Given the description of an element on the screen output the (x, y) to click on. 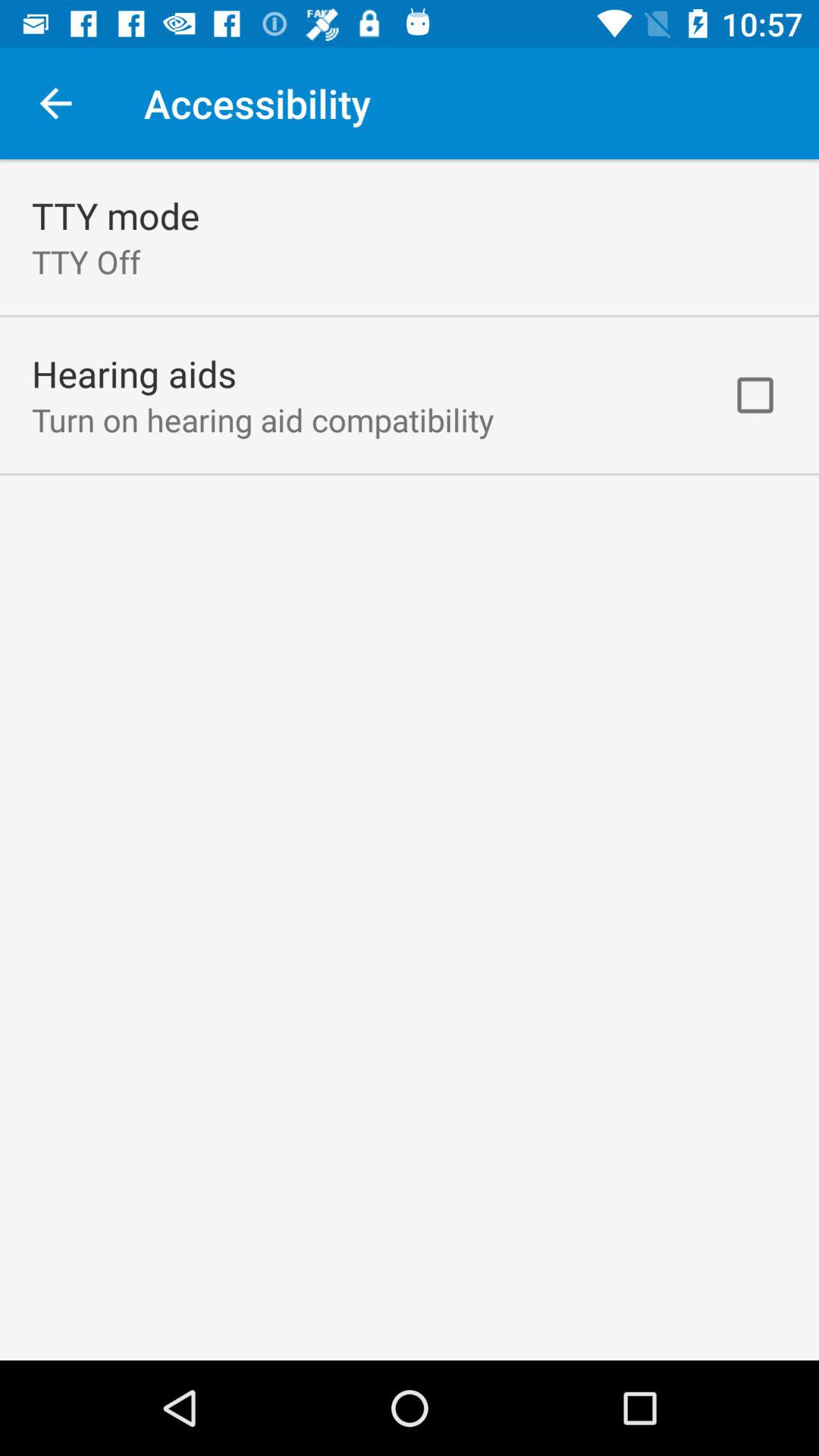
launch item next to the turn on hearing item (755, 395)
